Given the description of an element on the screen output the (x, y) to click on. 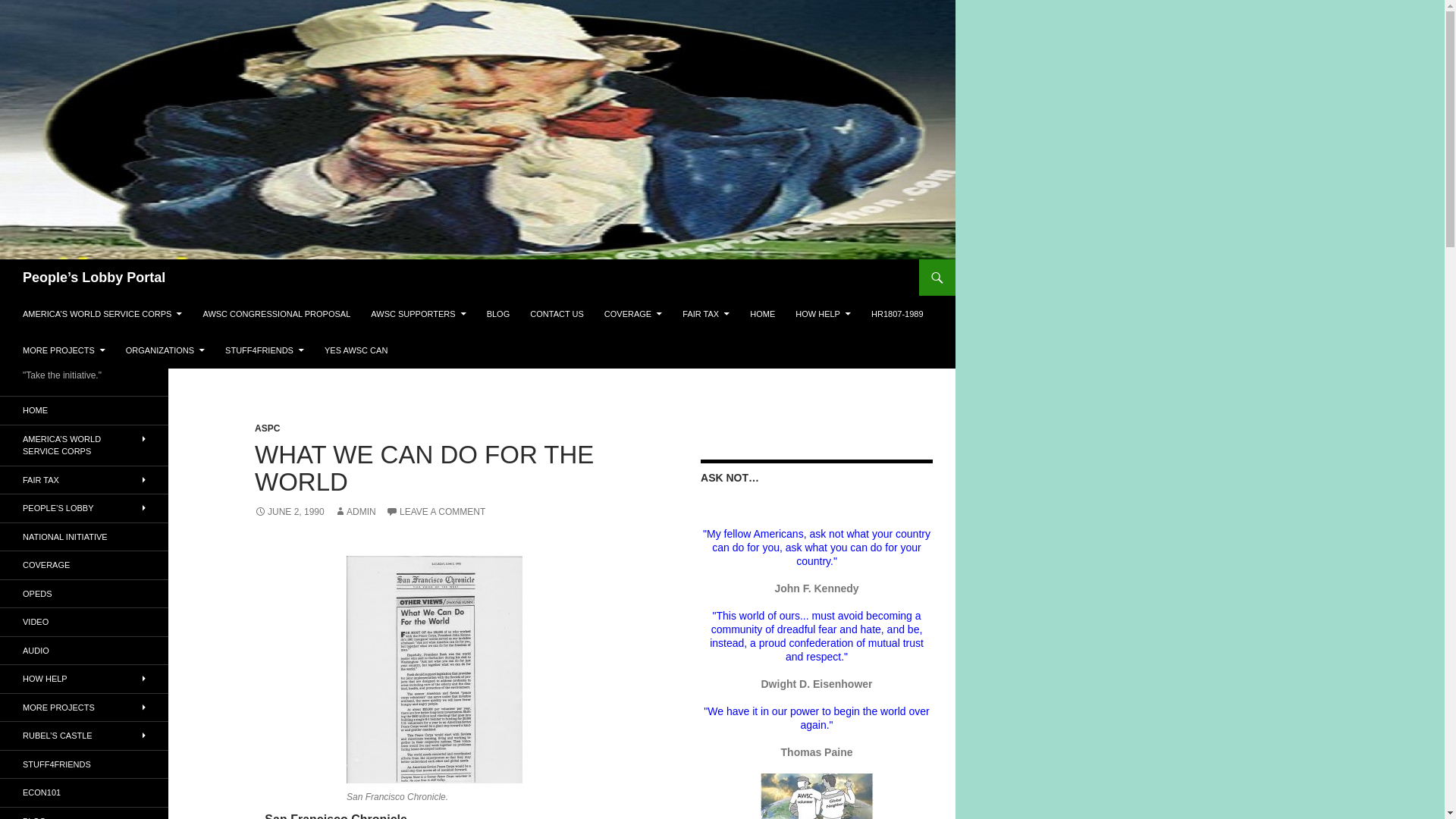
CONTACT US (556, 313)
HOME (762, 313)
BLOG (498, 313)
HOW HELP (823, 313)
MORE PROJECTS (64, 350)
FAIR TAX (705, 313)
AWSC SUPPORTERS (417, 313)
AWSC CONGRESSIONAL PROPOSAL (276, 313)
COVERAGE (633, 313)
HR1807-1989 (897, 313)
